Given the description of an element on the screen output the (x, y) to click on. 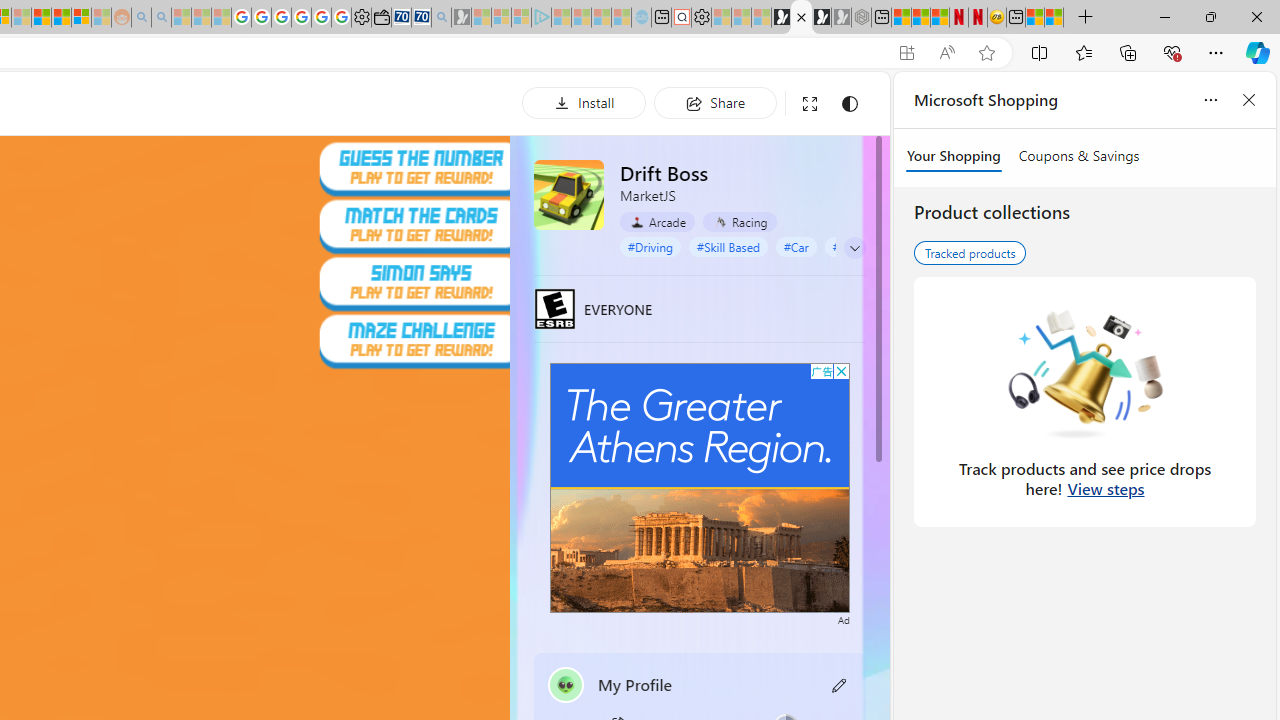
Drift Boss (568, 194)
Cheap Car Rentals - Save70.com (421, 17)
Close (1256, 16)
Install (583, 102)
Play Drift Boss in your browser | Games from Microsoft Start (801, 17)
Copilot (Ctrl+Shift+.) (1258, 52)
Read aloud this page (Ctrl+Shift+U) (946, 53)
Racing (738, 221)
Microsoft Start Gaming - Sleeping (461, 17)
